Given the description of an element on the screen output the (x, y) to click on. 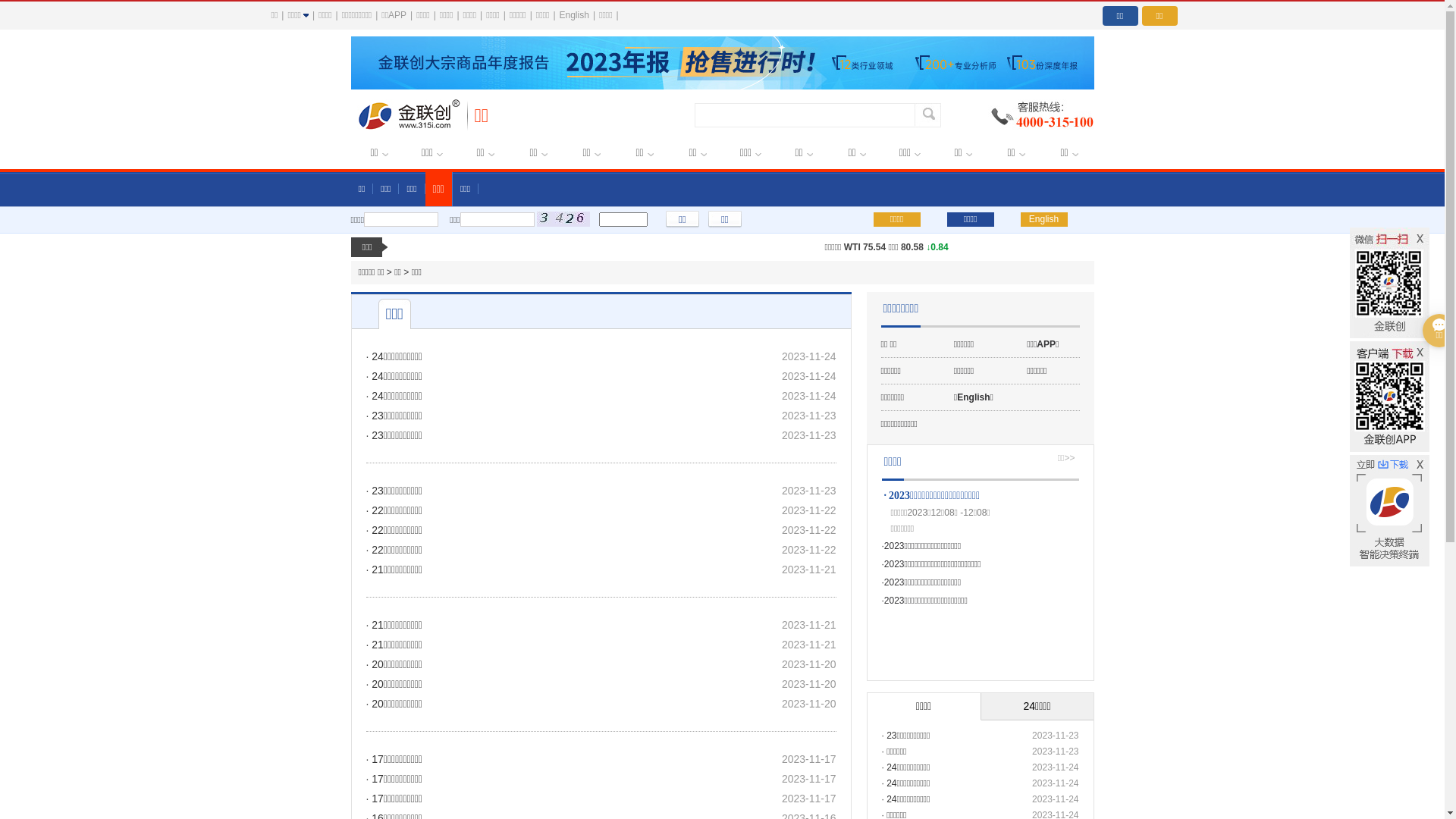
English Element type: text (1043, 219)
English Element type: text (574, 14)
